Given the description of an element on the screen output the (x, y) to click on. 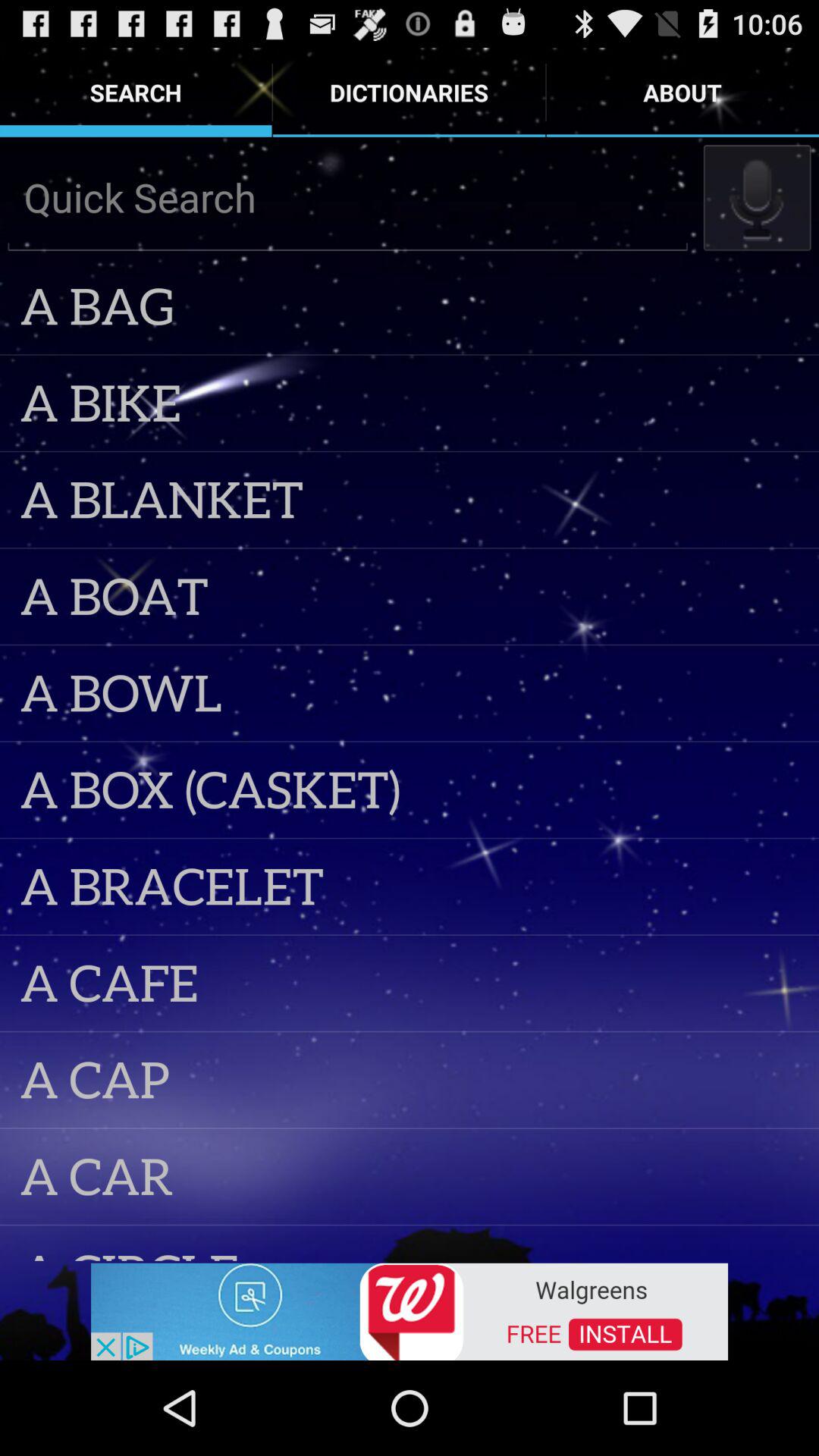
walgreens (409, 1310)
